Given the description of an element on the screen output the (x, y) to click on. 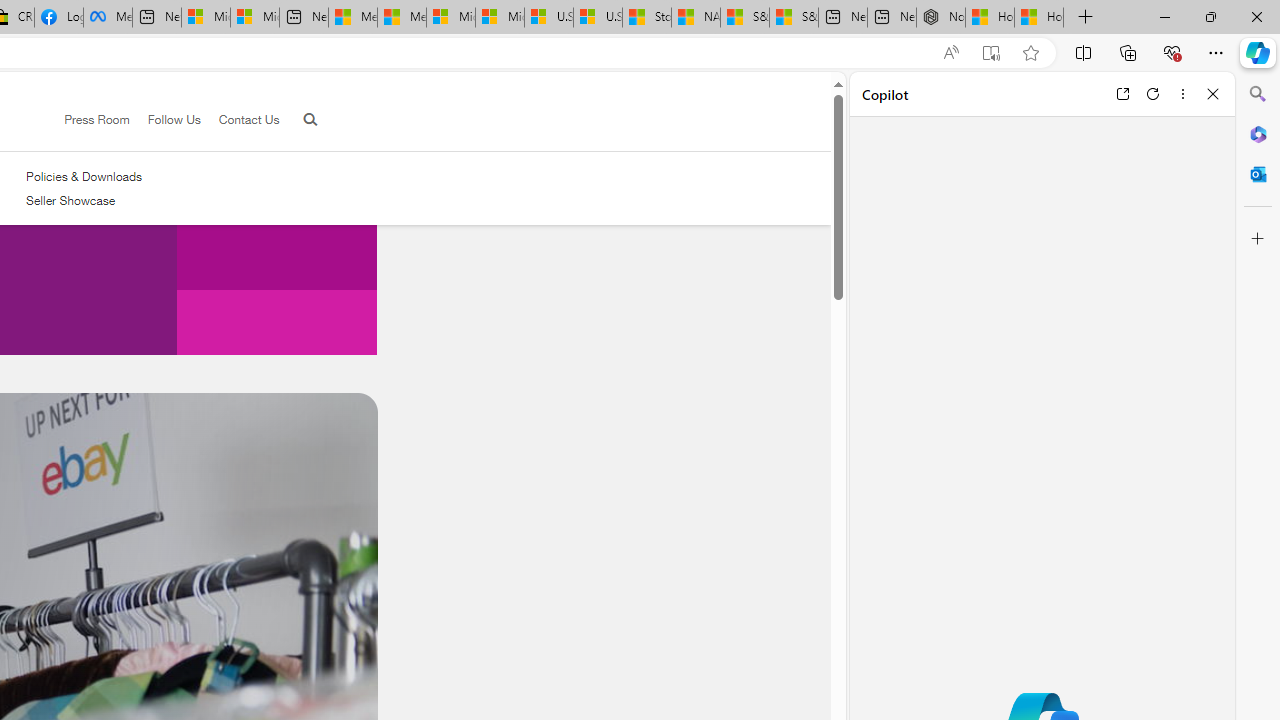
Settings and more (Alt+F) (1215, 52)
Microsoft 365 (1258, 133)
Copilot (Ctrl+Shift+.) (1258, 52)
Outlook (1258, 174)
New Tab (1085, 17)
Enter Immersive Reader (F9) (991, 53)
Search (1258, 94)
New tab (891, 17)
Press Room (88, 120)
Follow Us (173, 119)
